Given the description of an element on the screen output the (x, y) to click on. 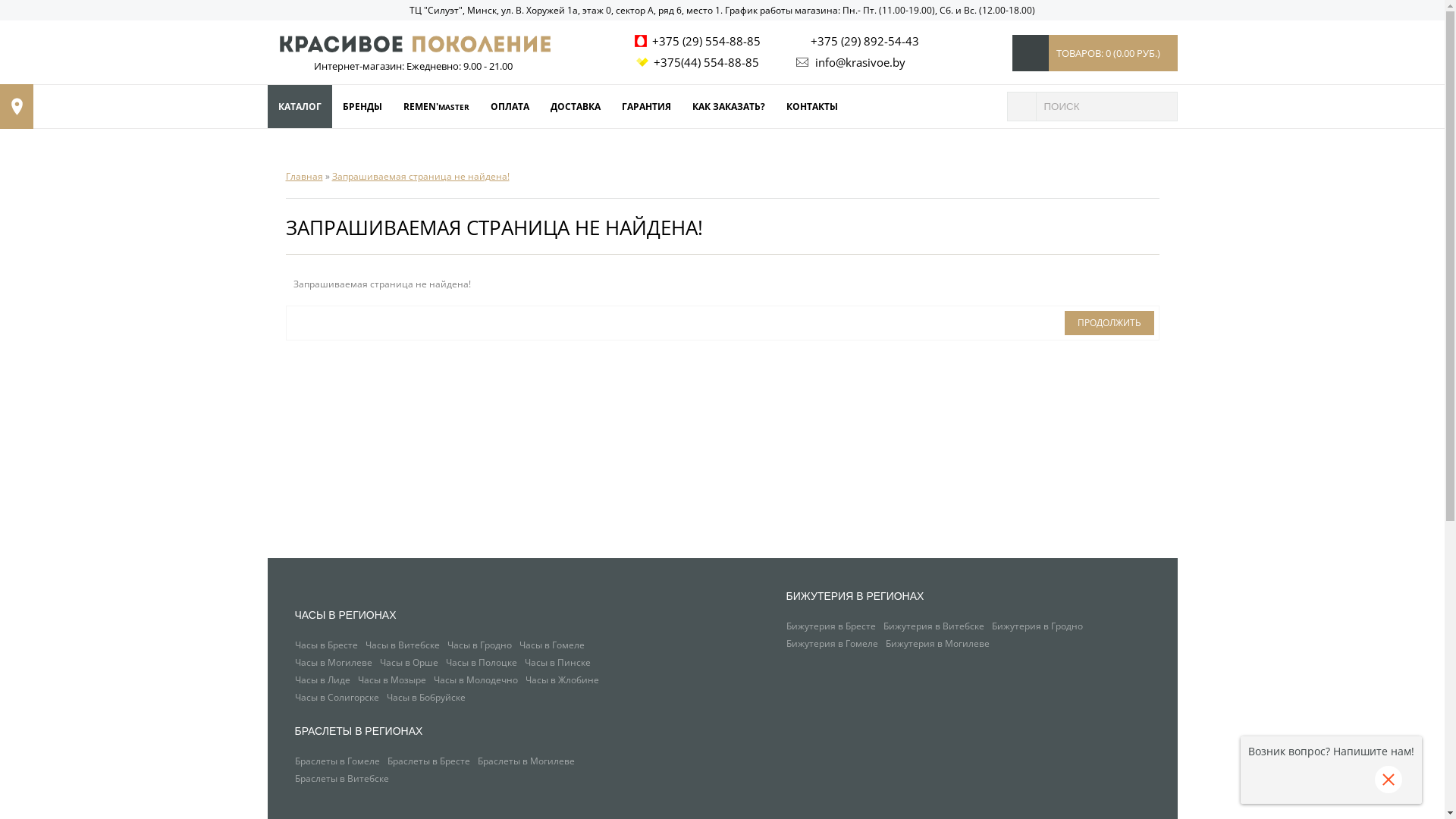
+375 (29) 554-88-85 Element type: text (697, 40)
+375 (29) 892-54-43 Element type: text (855, 40)
REMEN'MASTER Element type: text (436, 106)
info@krasivoe.by Element type: text (847, 61)
+375(44) 554-88-85 Element type: text (697, 61)
